Given the description of an element on the screen output the (x, y) to click on. 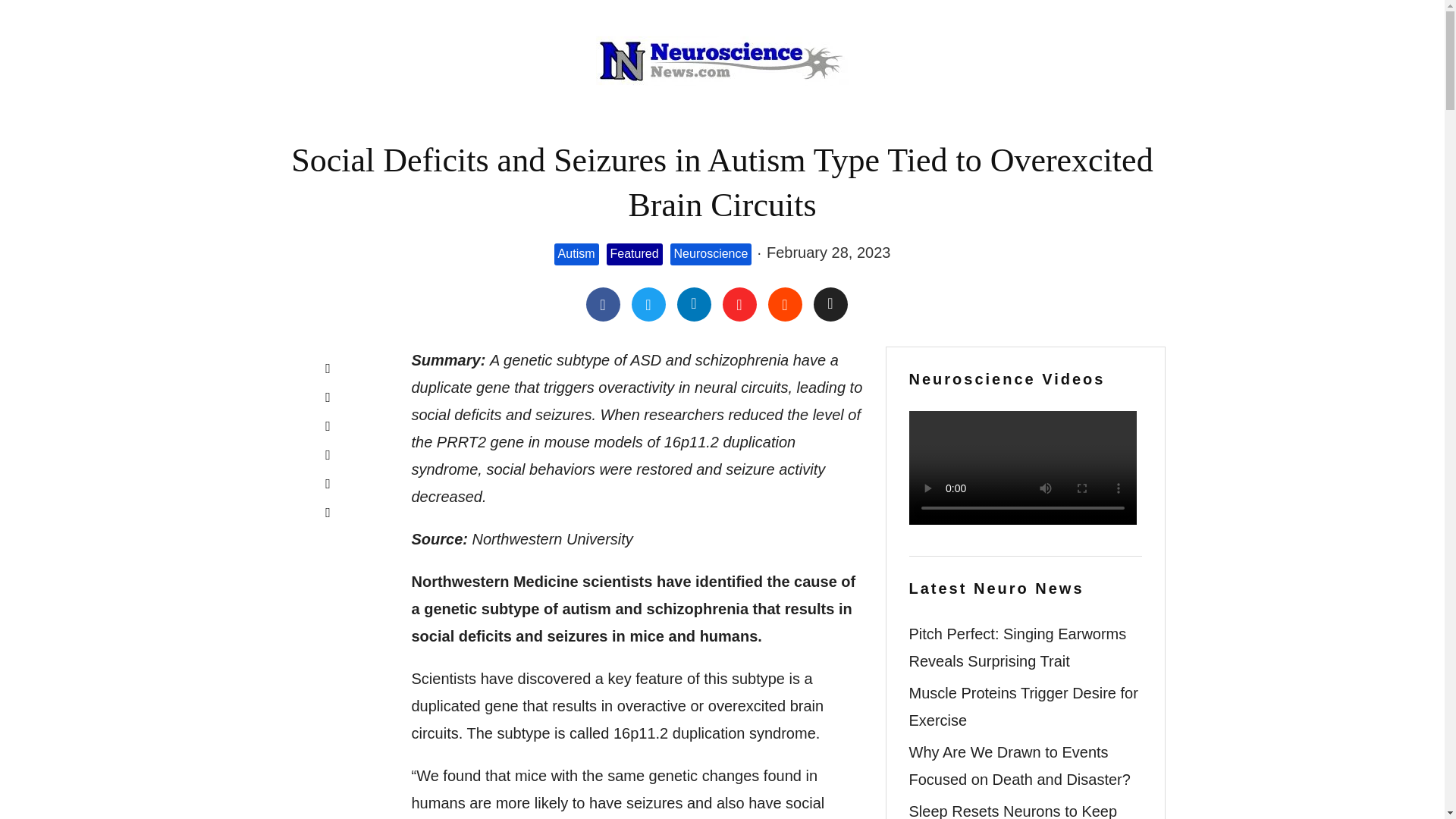
Featured (634, 254)
Neuroscience (710, 254)
Autism (576, 254)
